Given the description of an element on the screen output the (x, y) to click on. 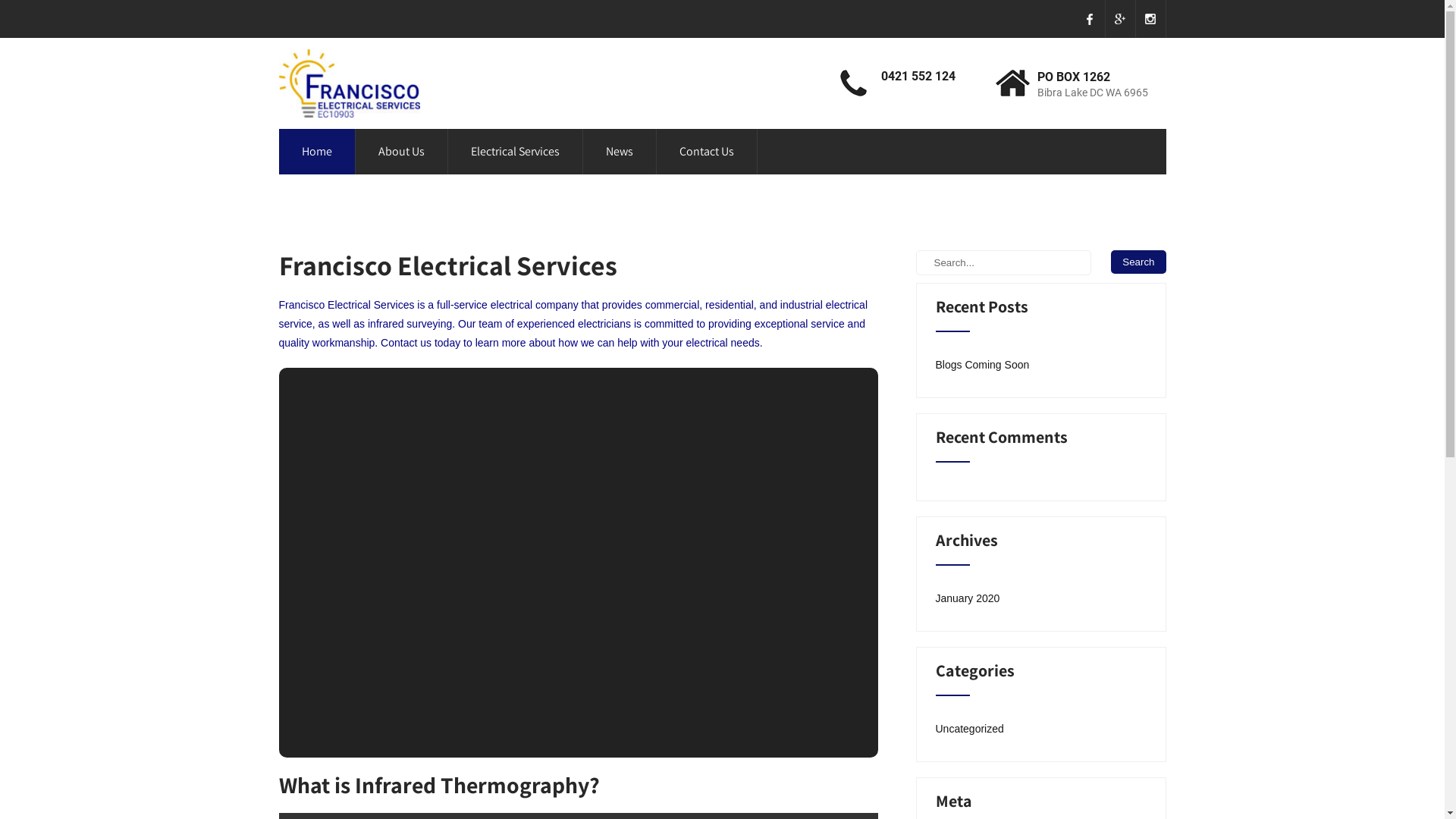
facebook Element type: hover (1090, 18)
google-plus Element type: hover (1120, 18)
Electrical Services Element type: text (514, 151)
Uncategorized Element type: text (969, 728)
About Us Element type: text (400, 151)
January 2020 Element type: text (967, 597)
Blogs Coming Soon Element type: text (982, 364)
instagram-link Element type: hover (1150, 18)
News Element type: text (618, 151)
Home Element type: text (316, 151)
Contact Us Element type: text (706, 151)
Search Element type: text (1137, 261)
